Given the description of an element on the screen output the (x, y) to click on. 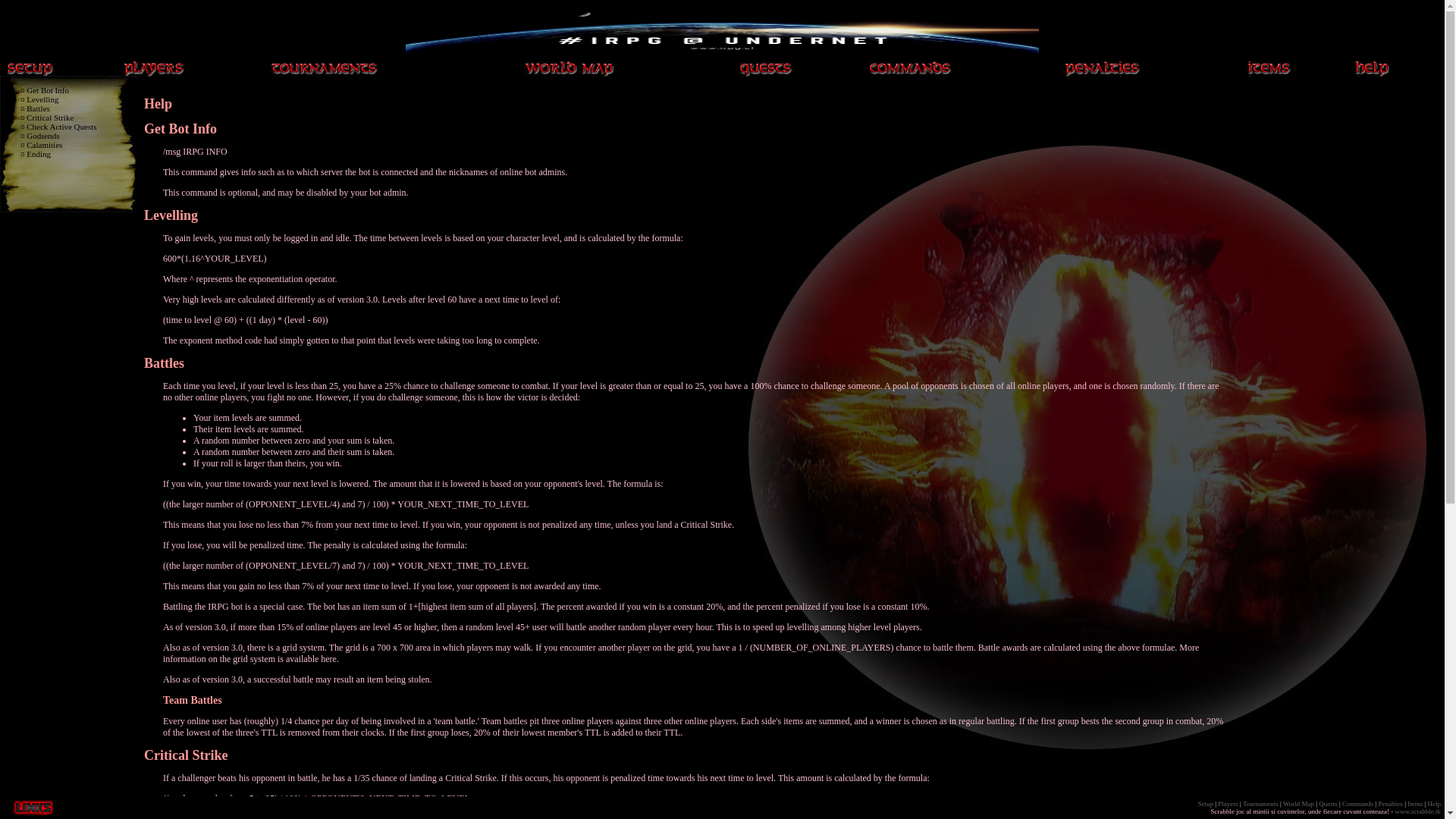
Critical Strike Element type: text (49, 117)
Penalties Element type: text (1389, 803)
Battles Element type: text (164, 362)
Calamities Element type: text (44, 144)
Players Element type: text (1227, 803)
Commands Element type: text (1357, 803)
Godsends Element type: text (42, 135)
Levelling Element type: text (170, 214)
Help Element type: text (1433, 803)
Items Element type: text (1414, 803)
World Map Element type: text (1298, 803)
www.scrabble.tk Element type: text (1417, 811)
Battles Element type: text (38, 107)
Quests Element type: text (1327, 803)
Ending Element type: text (38, 153)
Critical Strike Element type: text (185, 754)
Tournaments Element type: text (1260, 803)
Check Active Quests Element type: text (61, 126)
Levelling Element type: text (42, 98)
Get Bot Info Element type: text (180, 128)
Get Bot Info Element type: text (47, 89)
Setup Element type: text (1205, 803)
